Given the description of an element on the screen output the (x, y) to click on. 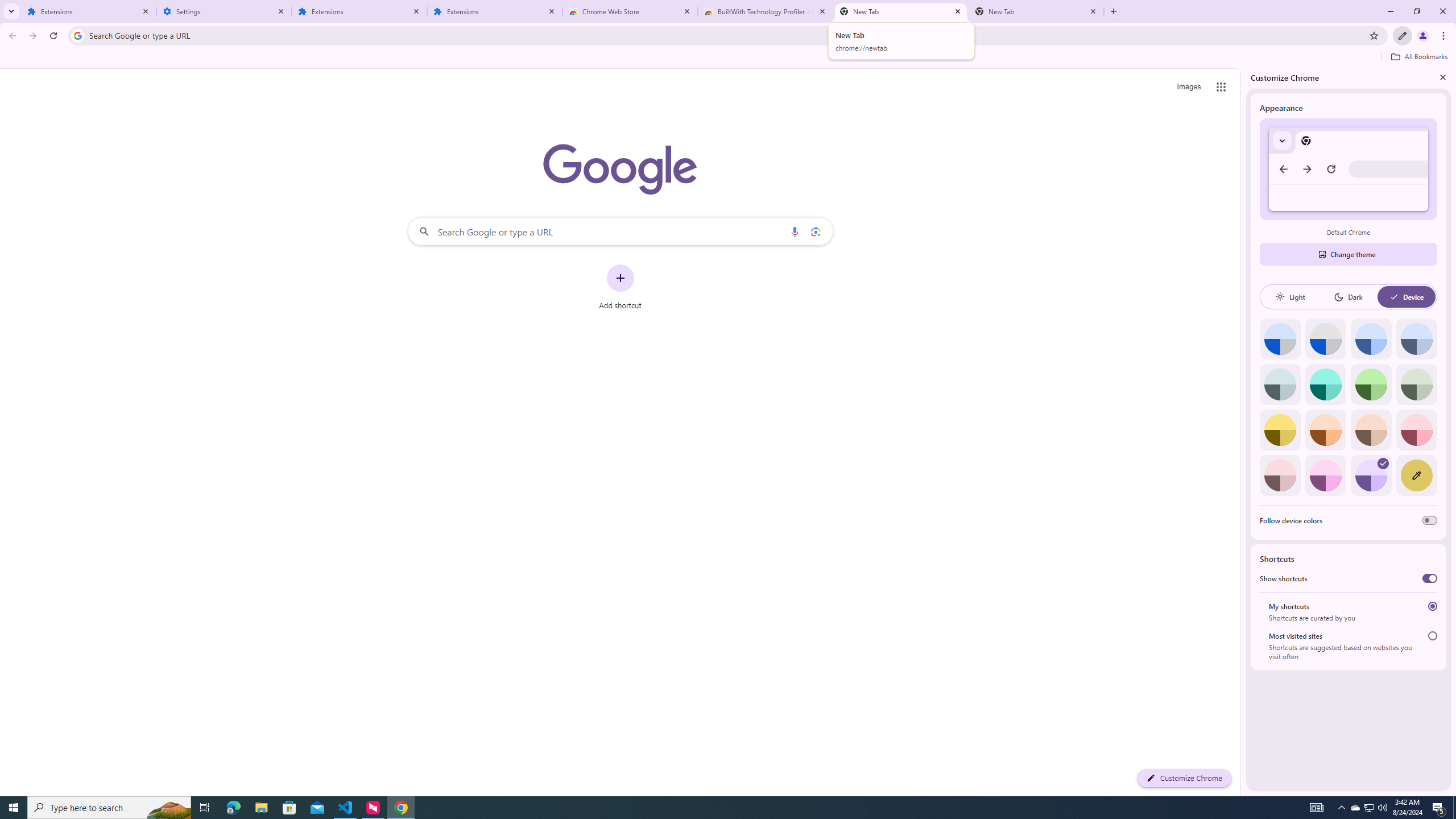
Cool grey (1416, 338)
Citron (1279, 429)
All Bookmarks (1418, 56)
Aqua (1325, 383)
Chrome Web Store (630, 11)
Search icon (77, 35)
Extensions (88, 11)
Device (1406, 296)
